Given the description of an element on the screen output the (x, y) to click on. 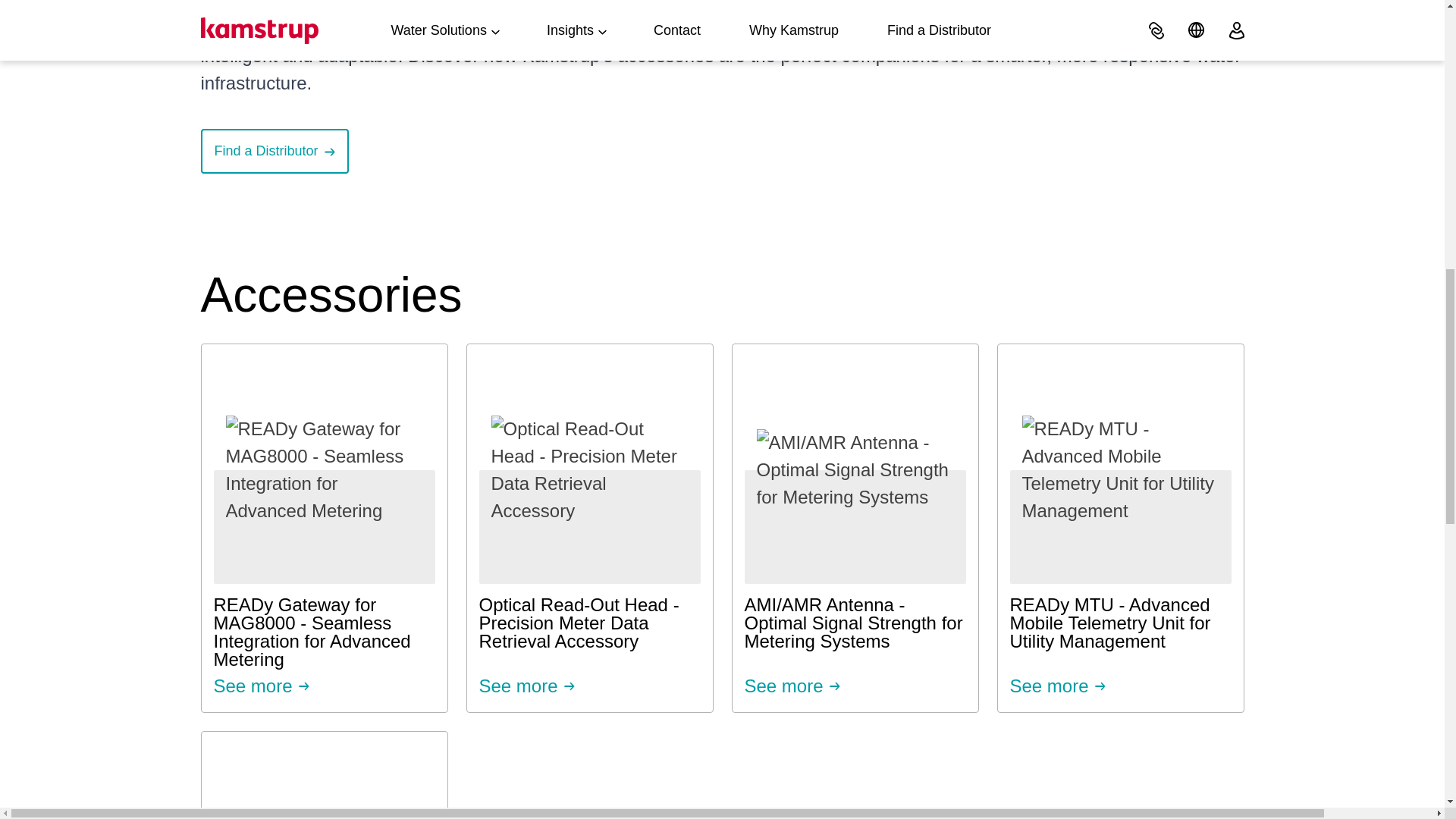
Find a Distributor (323, 775)
